Given the description of an element on the screen output the (x, y) to click on. 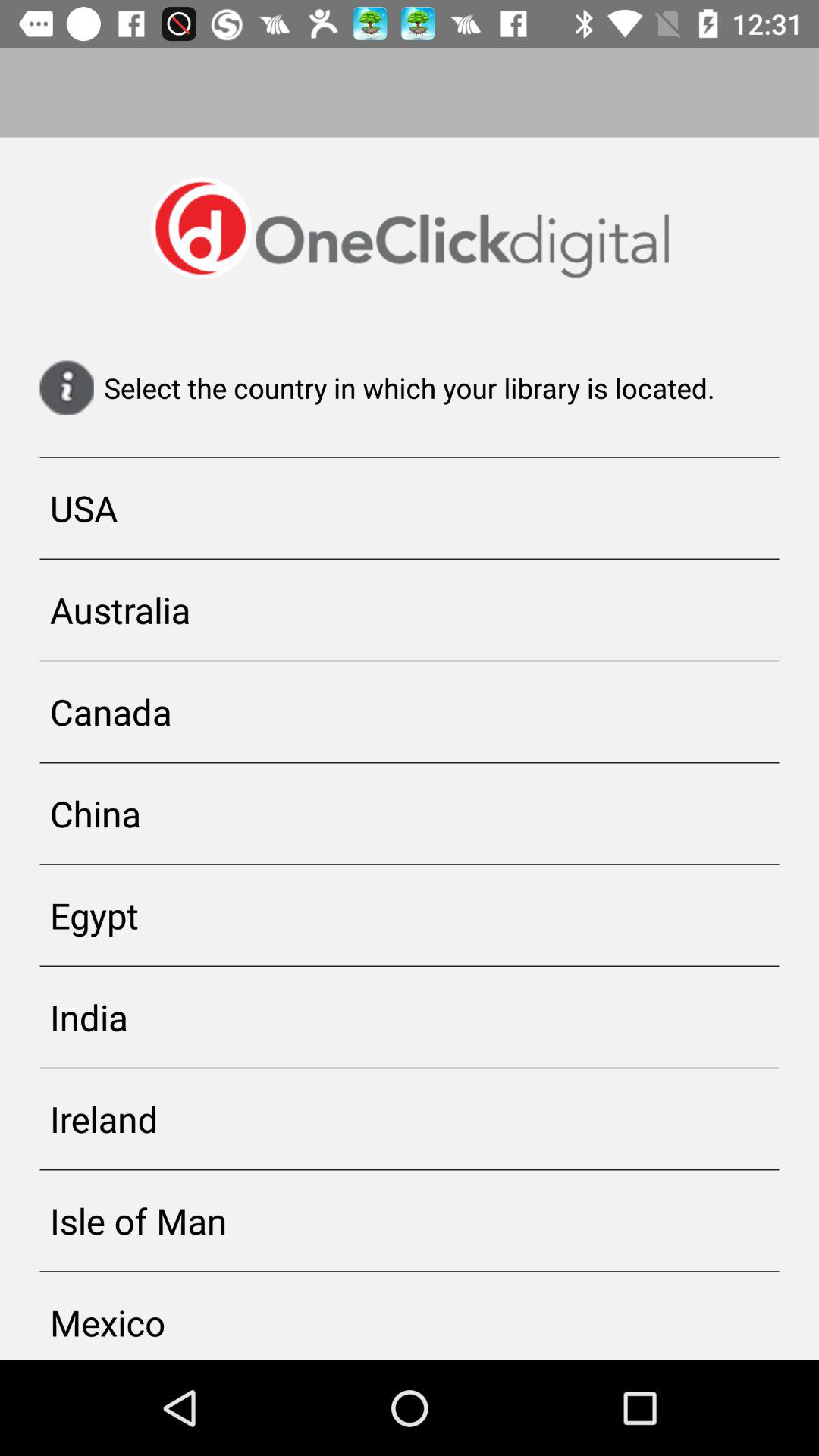
turn on app below the australia item (409, 711)
